Given the description of an element on the screen output the (x, y) to click on. 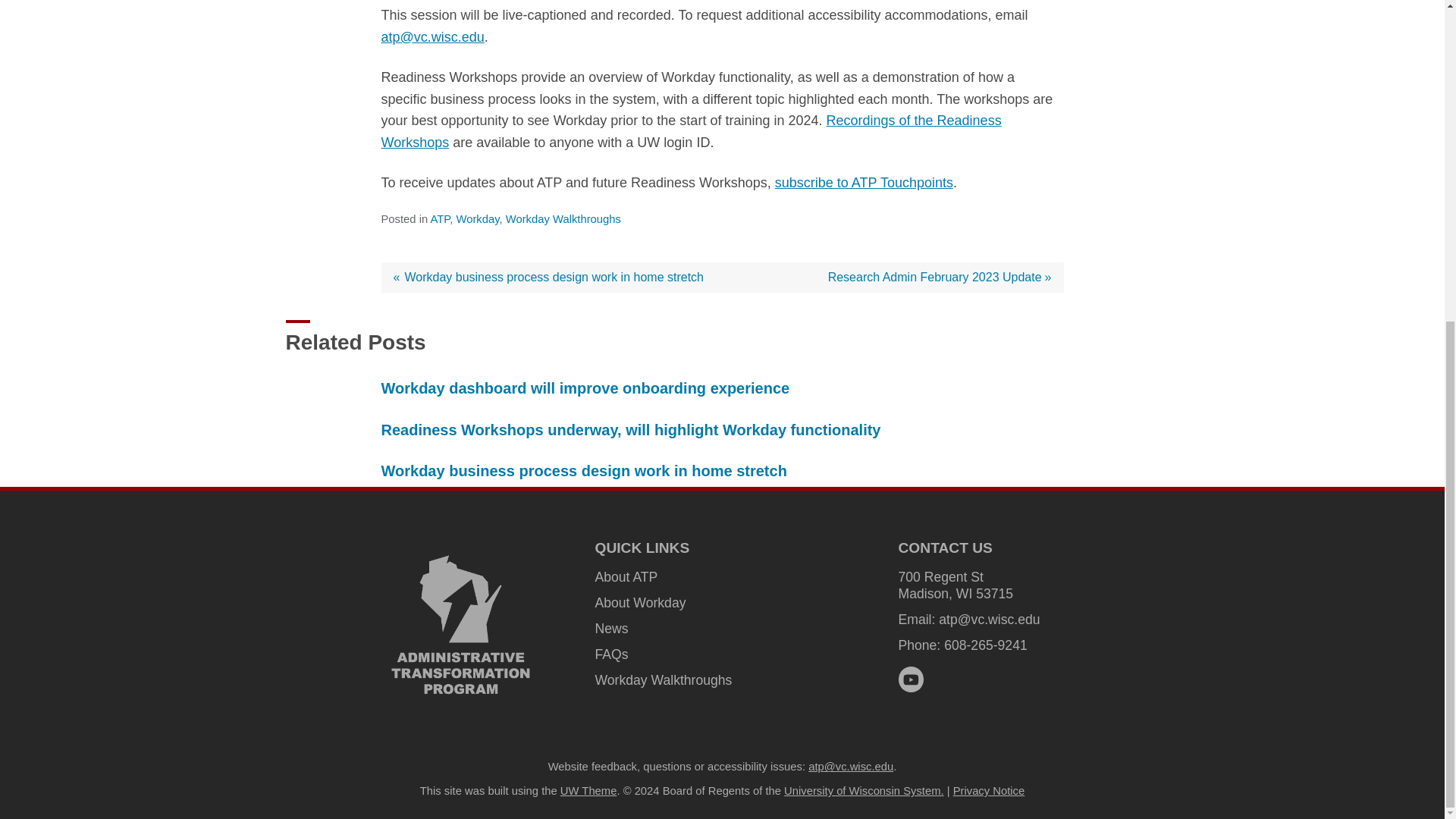
Recordings of the Readiness Workshops (690, 131)
Administrative Transformation Program logo (460, 624)
subscribe to ATP Touchpoints (863, 182)
Workday (478, 218)
ATP (439, 218)
youtube (910, 679)
